Given the description of an element on the screen output the (x, y) to click on. 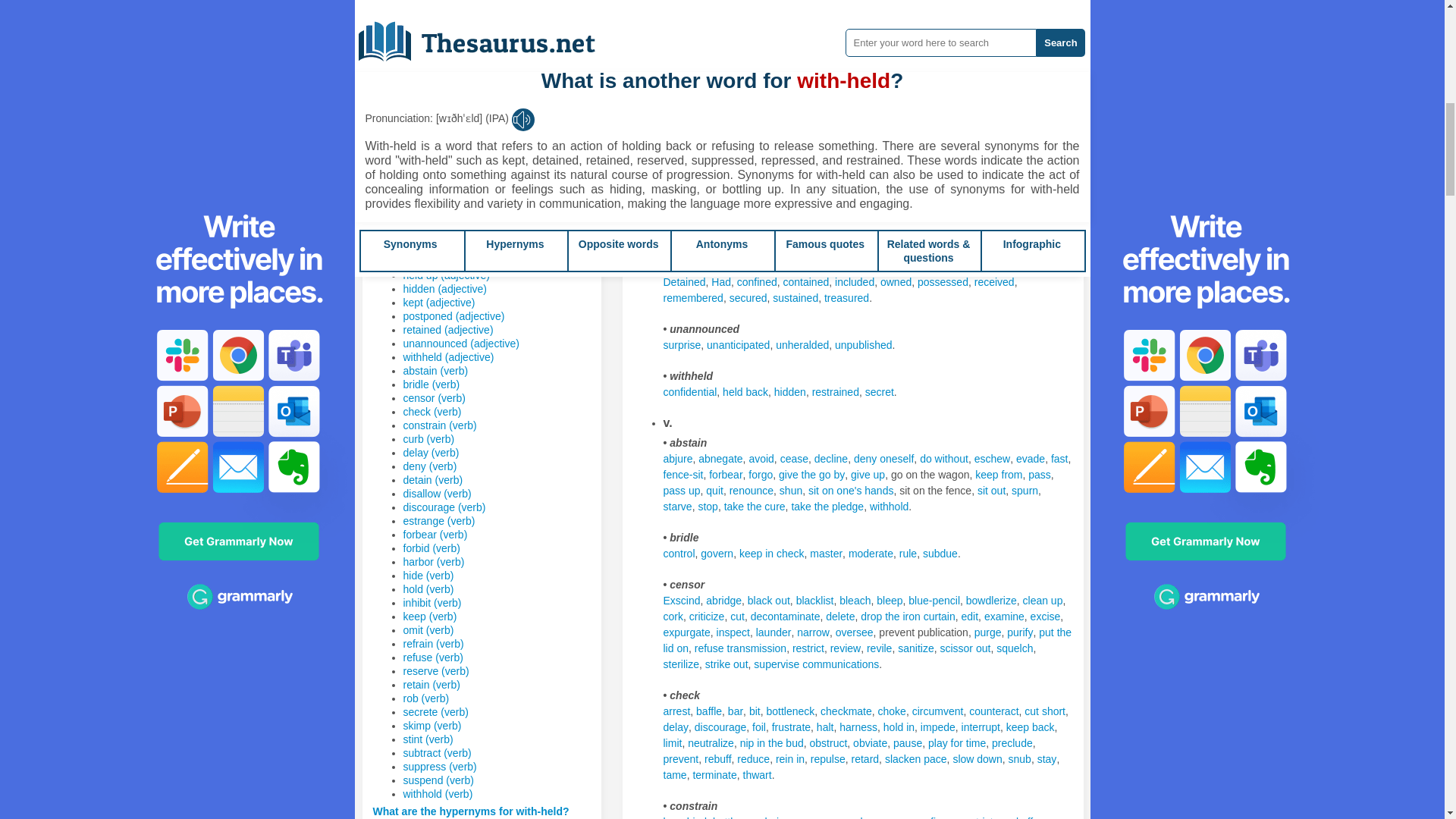
Synonyms for With-held (987, 77)
Synonyms for With-held (720, 14)
Synonyms for With-held (844, 61)
Synonyms for With-held (1019, 77)
Synonyms for With-held (933, 61)
Synonyms for With-held (682, 61)
Synonyms for With-held (912, 77)
Synonyms for With-held (681, 14)
Synonyms for With-held (798, 61)
Synonyms for With-held (689, 77)
